Given the description of an element on the screen output the (x, y) to click on. 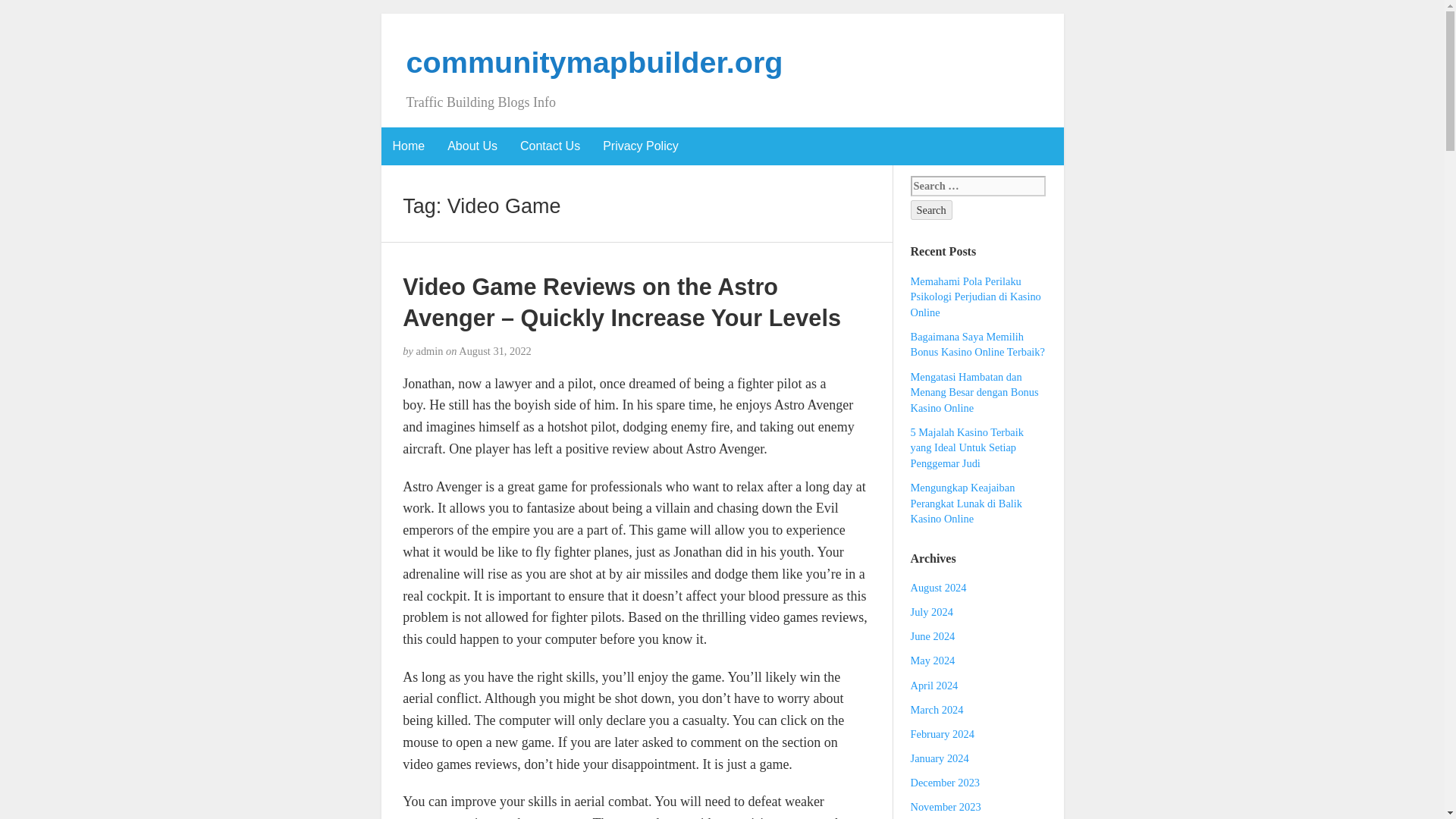
January 2024 (940, 758)
December 2023 (945, 782)
About Us (471, 146)
Memahami Pola Perilaku Psikologi Perjudian di Kasino Online (976, 296)
March 2024 (937, 709)
February 2024 (942, 734)
Privacy Policy (640, 146)
About Us (471, 146)
